Given the description of an element on the screen output the (x, y) to click on. 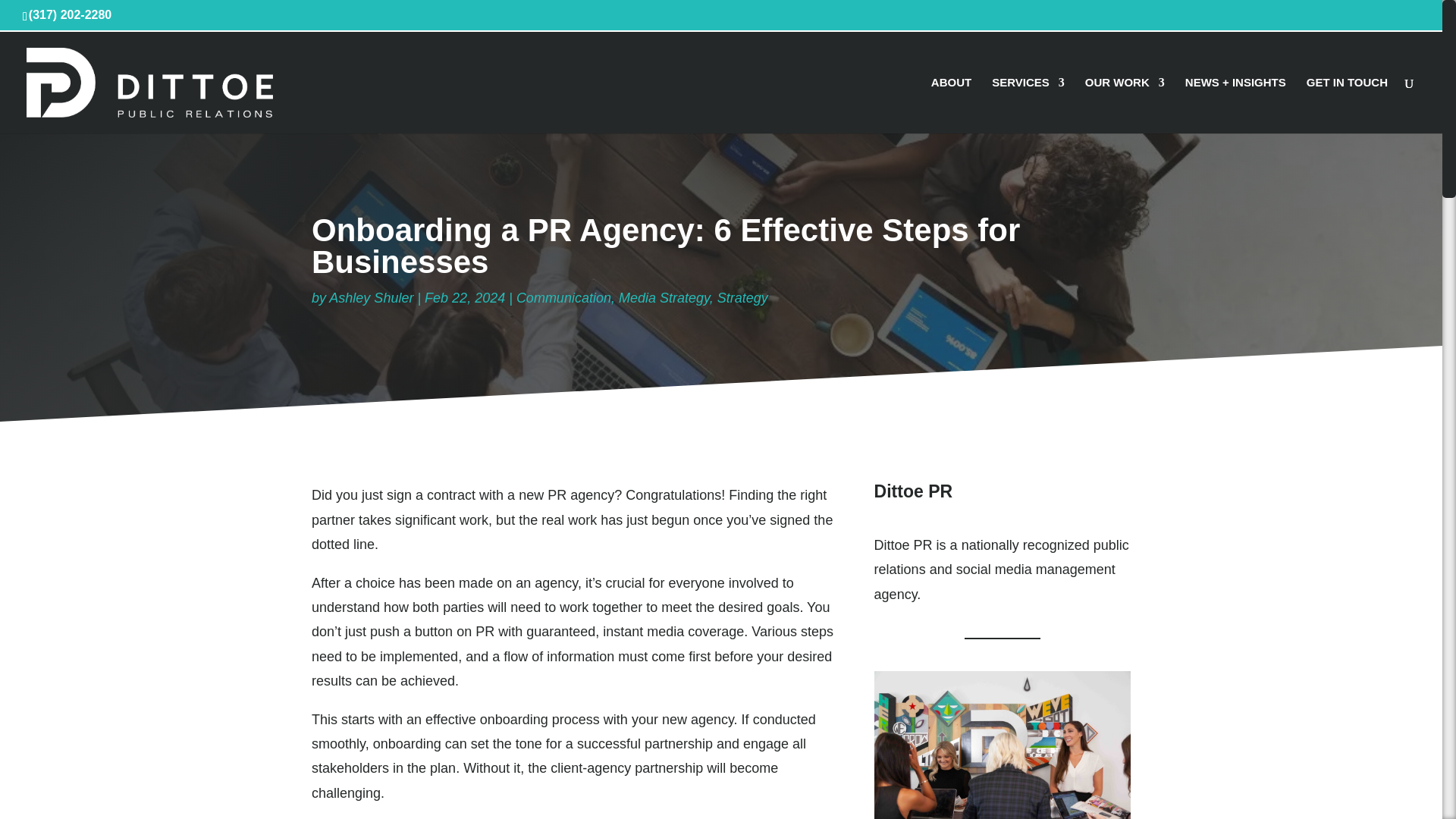
Posts by Ashley Shuler (371, 297)
SERVICES (1027, 104)
ABOUT (951, 104)
GET IN TOUCH (1346, 104)
OUR WORK (1124, 104)
